Given the description of an element on the screen output the (x, y) to click on. 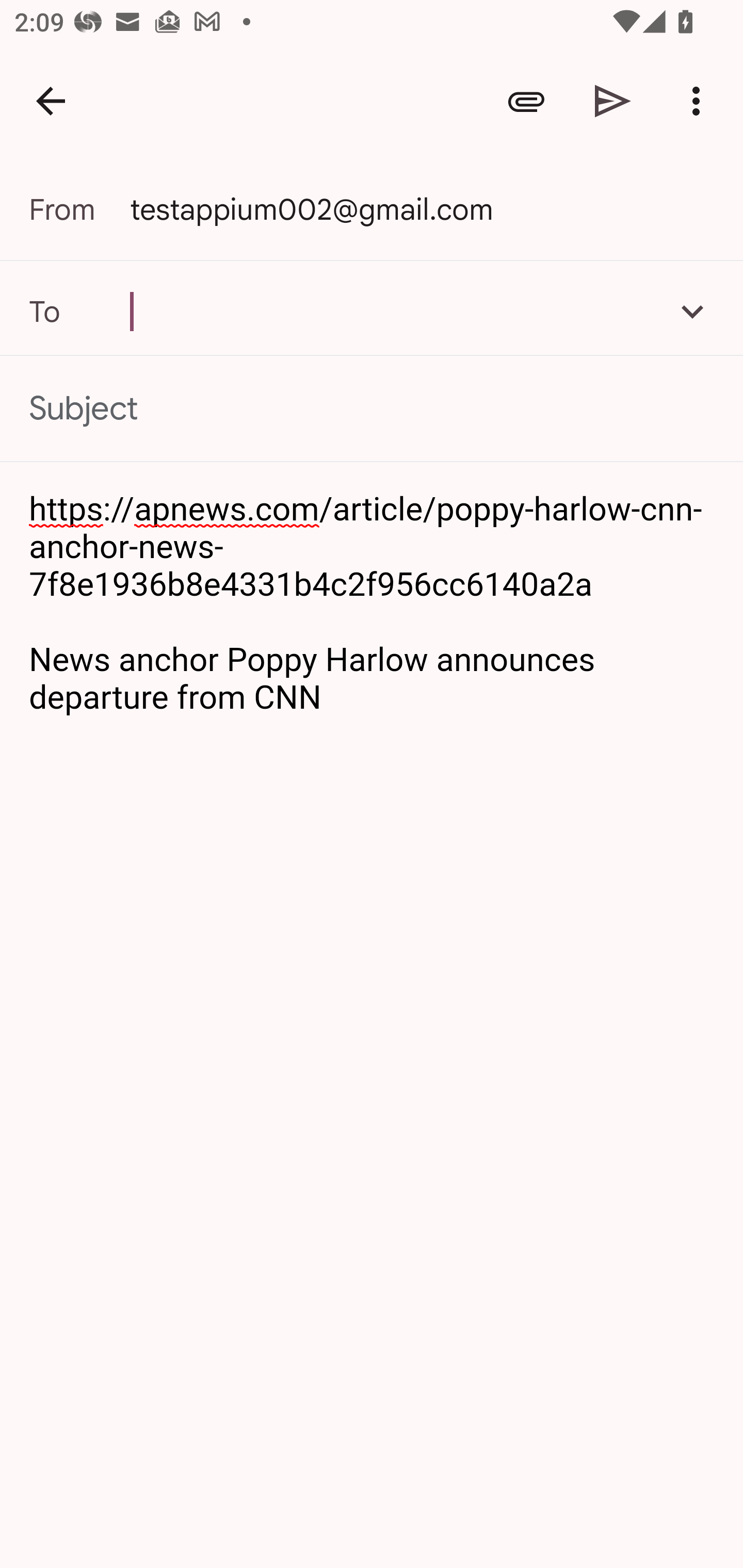
Navigate up (50, 101)
Attach file (525, 101)
Send (612, 101)
More options (699, 101)
From (79, 209)
Add Cc/Bcc (692, 311)
Subject (371, 407)
